Given the description of an element on the screen output the (x, y) to click on. 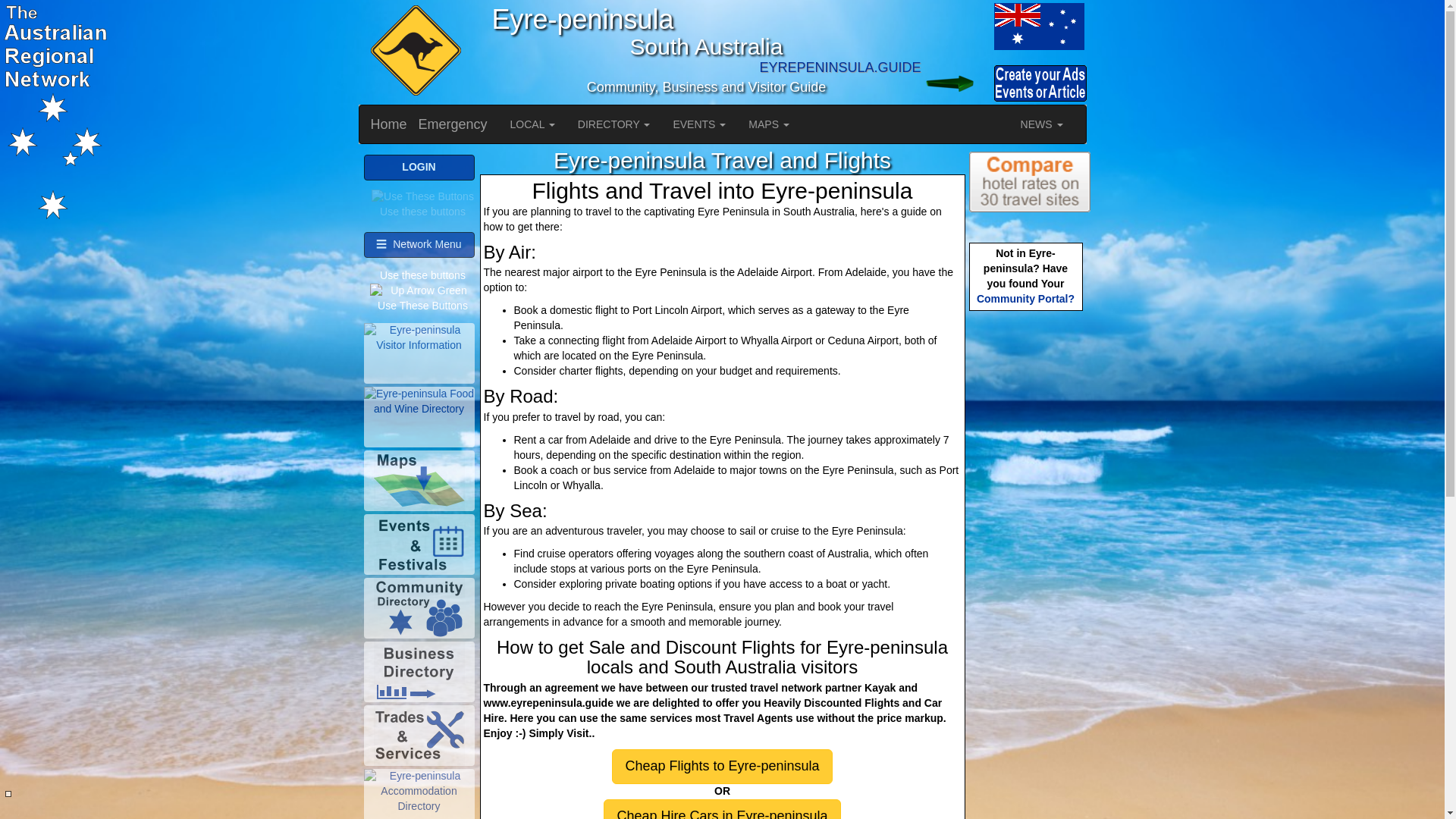
DIRECTORY (614, 124)
Login to eyrepeninsula.guide (956, 83)
Home (389, 124)
LOCAL (532, 124)
Australia (956, 26)
Eyre-peninsula Skippycoin ICG (413, 52)
Emergency (453, 124)
Eyre-peninsula Australia (1037, 26)
Eyre-peninsula Hotel Search Engine (1029, 181)
